Given the description of an element on the screen output the (x, y) to click on. 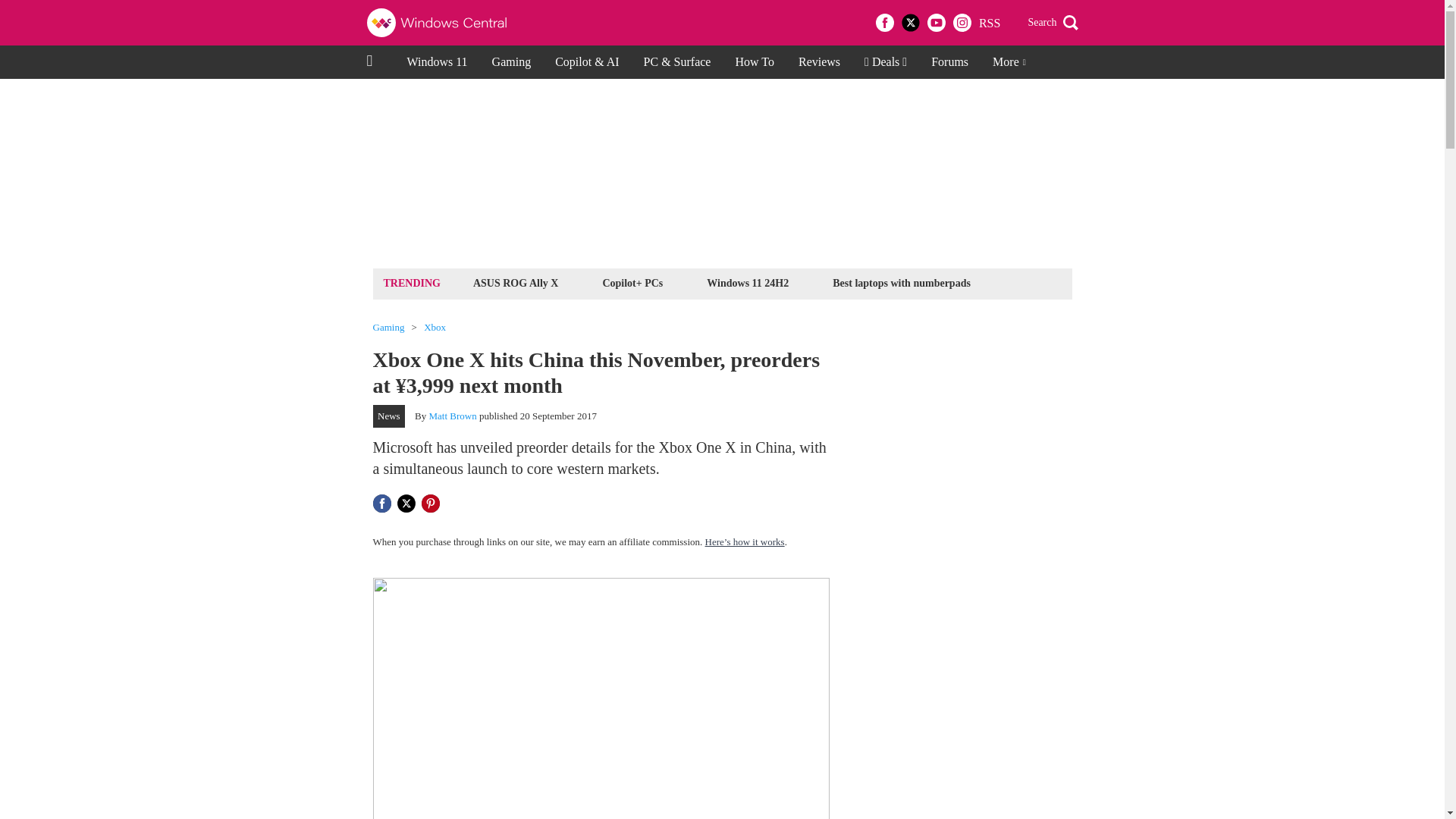
Gaming (388, 327)
News (389, 415)
Windows 11 24H2 (747, 282)
Gaming (511, 61)
How To (754, 61)
Best laptops with numberpads (901, 282)
Forums (948, 61)
Windows 11 (436, 61)
Reviews (818, 61)
ASUS ROG Ally X (515, 282)
RSS (989, 22)
Matt Brown (453, 415)
